Given the description of an element on the screen output the (x, y) to click on. 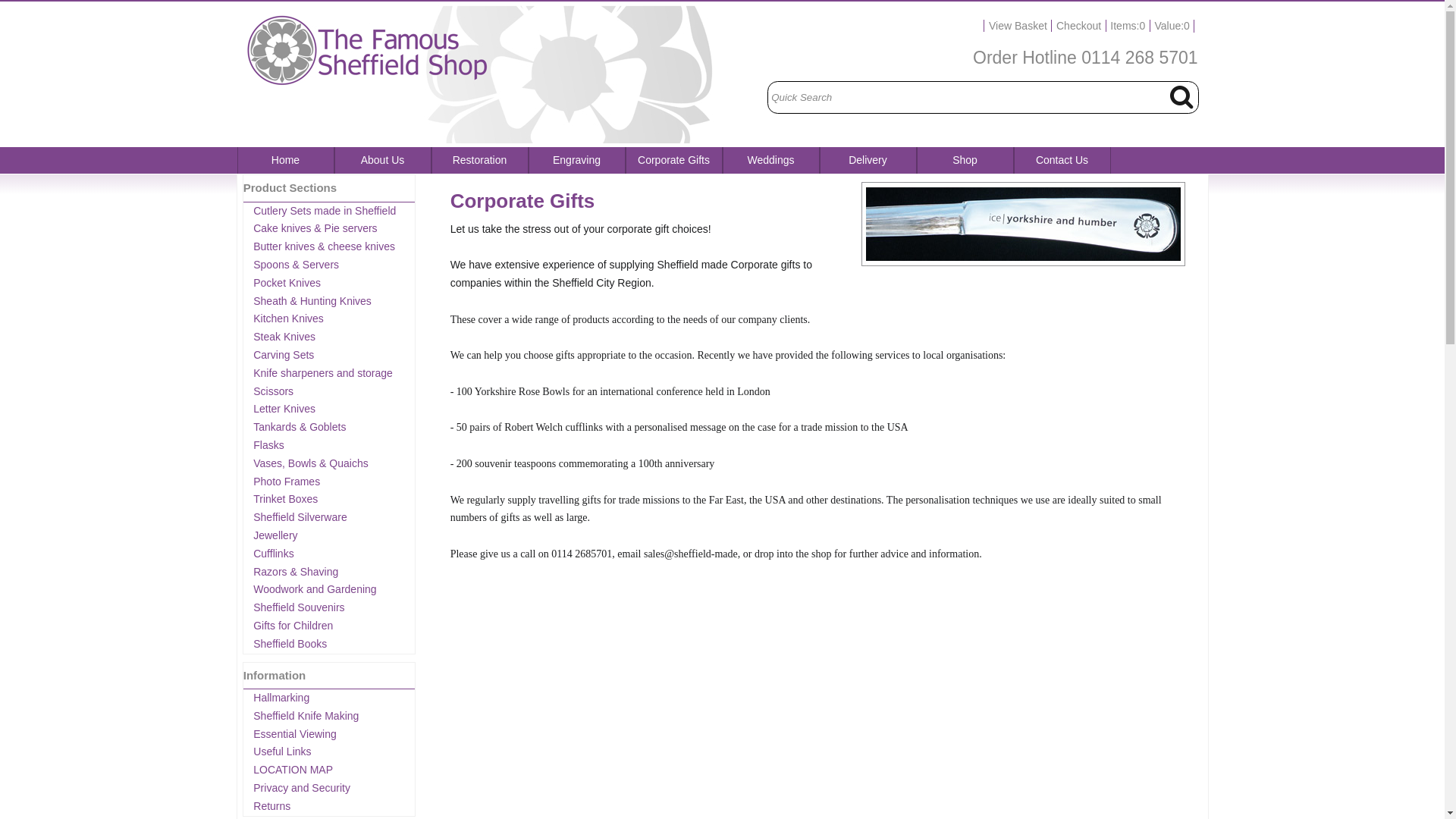
Weddings (770, 160)
Shop (965, 160)
Trinket Boxes (285, 499)
About Us (382, 160)
Delivery (868, 160)
Cufflinks (273, 553)
Search (1180, 96)
Letter Knives (284, 408)
Corporate Gifts (674, 160)
Restoration (479, 160)
